Given the description of an element on the screen output the (x, y) to click on. 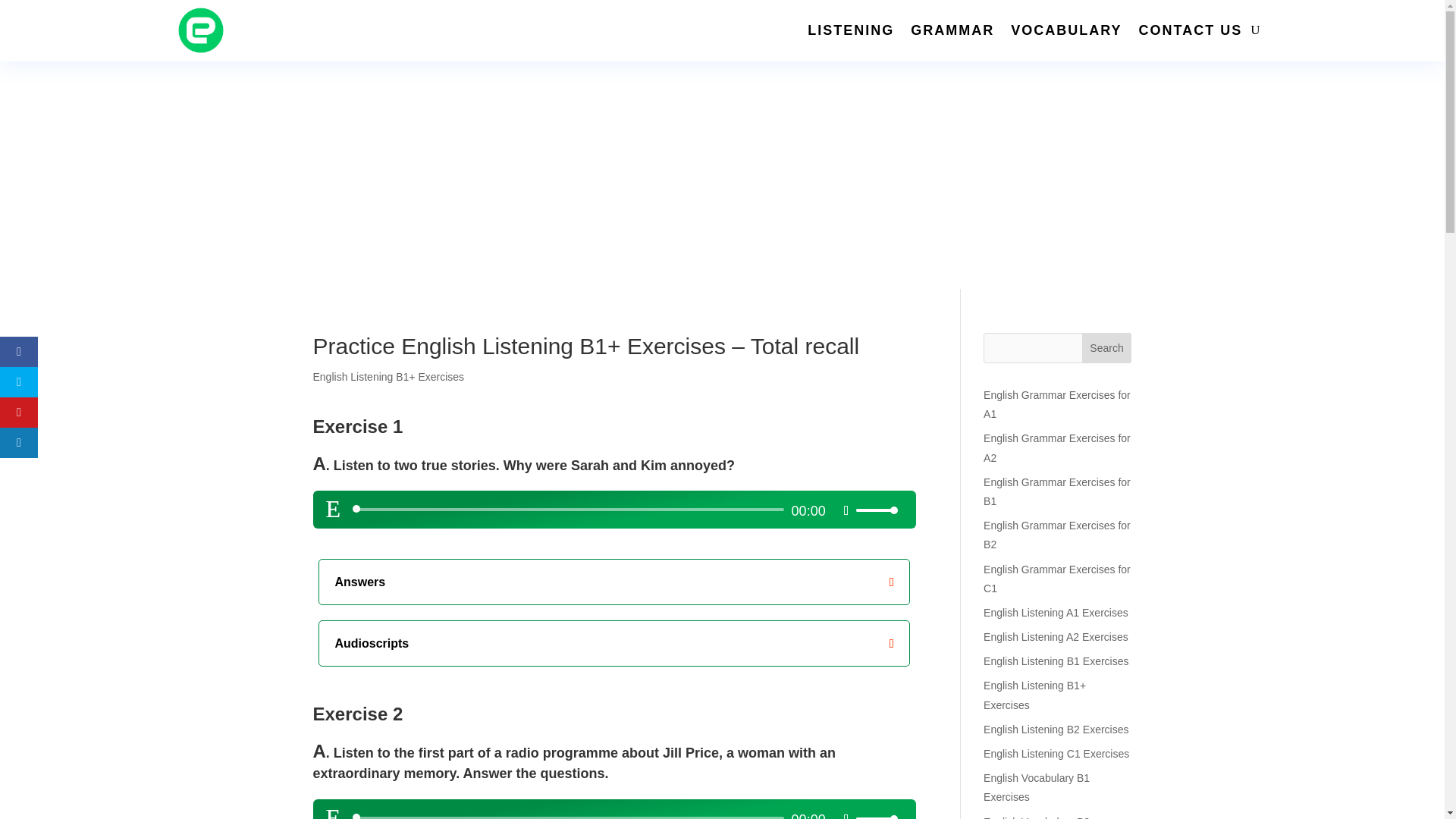
English Listening A1 Exercises (1056, 612)
CONTACT US (1190, 29)
English Grammar Exercises for A2 (1057, 447)
English Grammar Exercises for A1 (1057, 404)
Mute (846, 509)
Play (333, 812)
LISTENING (850, 29)
GRAMMAR (952, 29)
Search (1106, 347)
English Grammar Exercises for B2 (1057, 534)
Play (333, 508)
VOCABULARY (1065, 29)
English Listening A2 Exercises (1056, 636)
English Grammar Exercises for C1 (1057, 577)
